Given the description of an element on the screen output the (x, y) to click on. 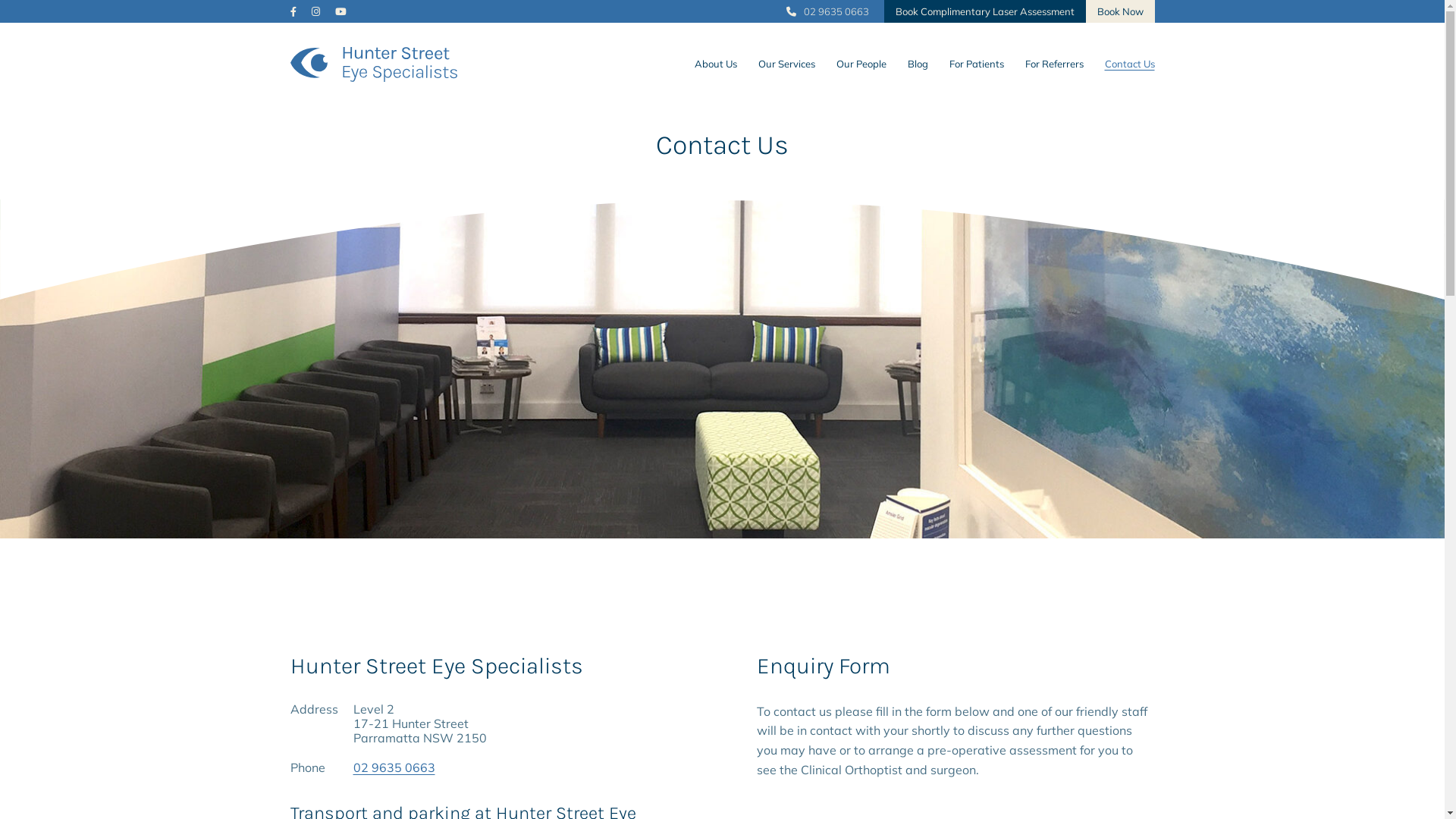
Contact Us Element type: text (1129, 64)
For Patients Element type: text (976, 64)
Book Now Element type: text (1119, 11)
Our People Element type: text (860, 64)
Our Services Element type: text (786, 64)
About Us Element type: text (715, 64)
For Referrers Element type: text (1054, 64)
Blog Element type: text (916, 64)
Book Complimentary Laser Assessment Element type: text (984, 11)
02 9635 0663 Element type: text (394, 767)
02 9635 0663 Element type: text (826, 10)
